Given the description of an element on the screen output the (x, y) to click on. 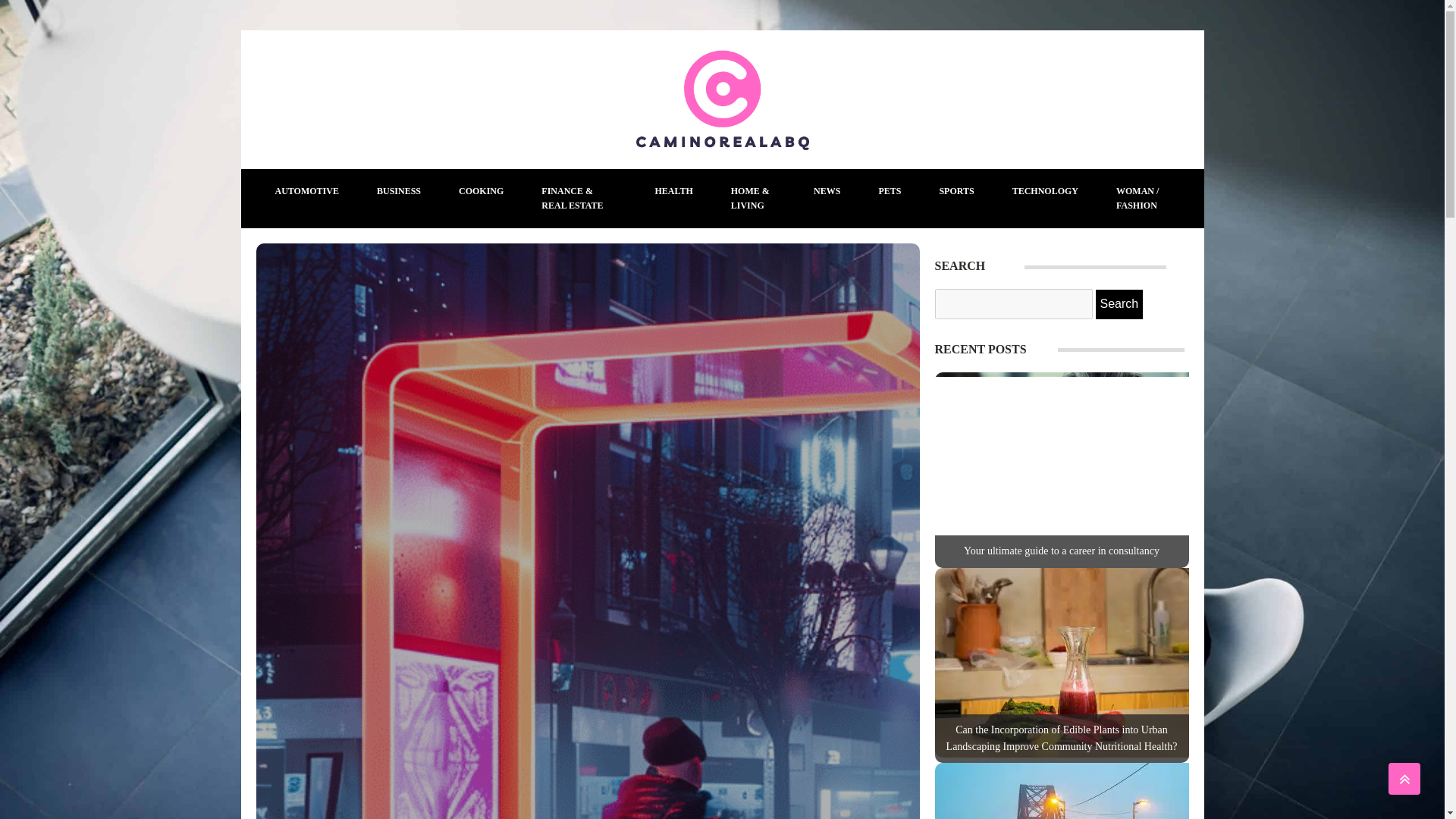
BUSINESS (398, 190)
AUTOMOTIVE (307, 190)
SPORTS (956, 190)
NEWS (826, 190)
COOKING (480, 190)
HEALTH (672, 190)
PETS (889, 190)
